Given the description of an element on the screen output the (x, y) to click on. 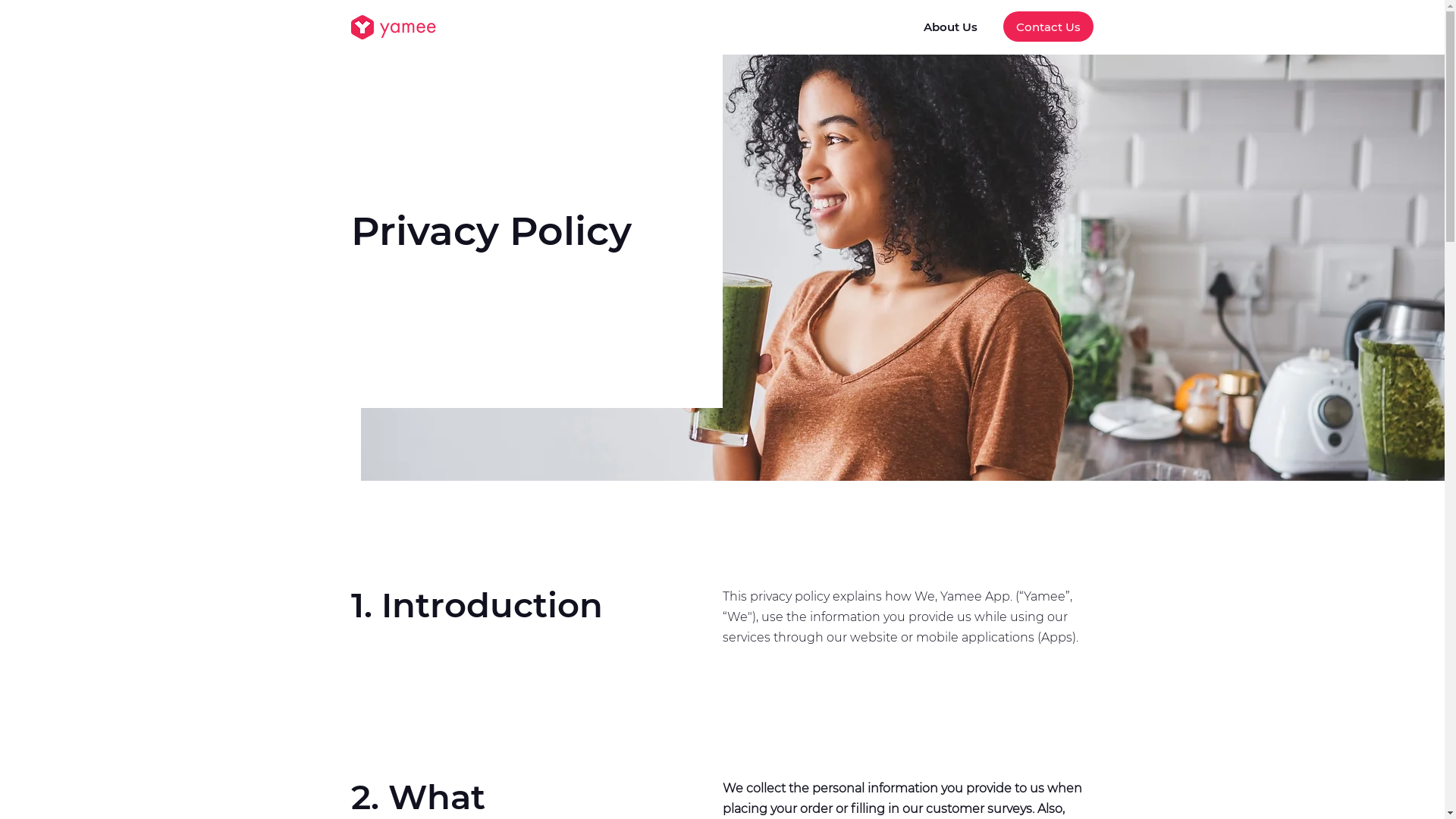
Contact Us Element type: text (1047, 26)
About Us Element type: text (950, 26)
